Given the description of an element on the screen output the (x, y) to click on. 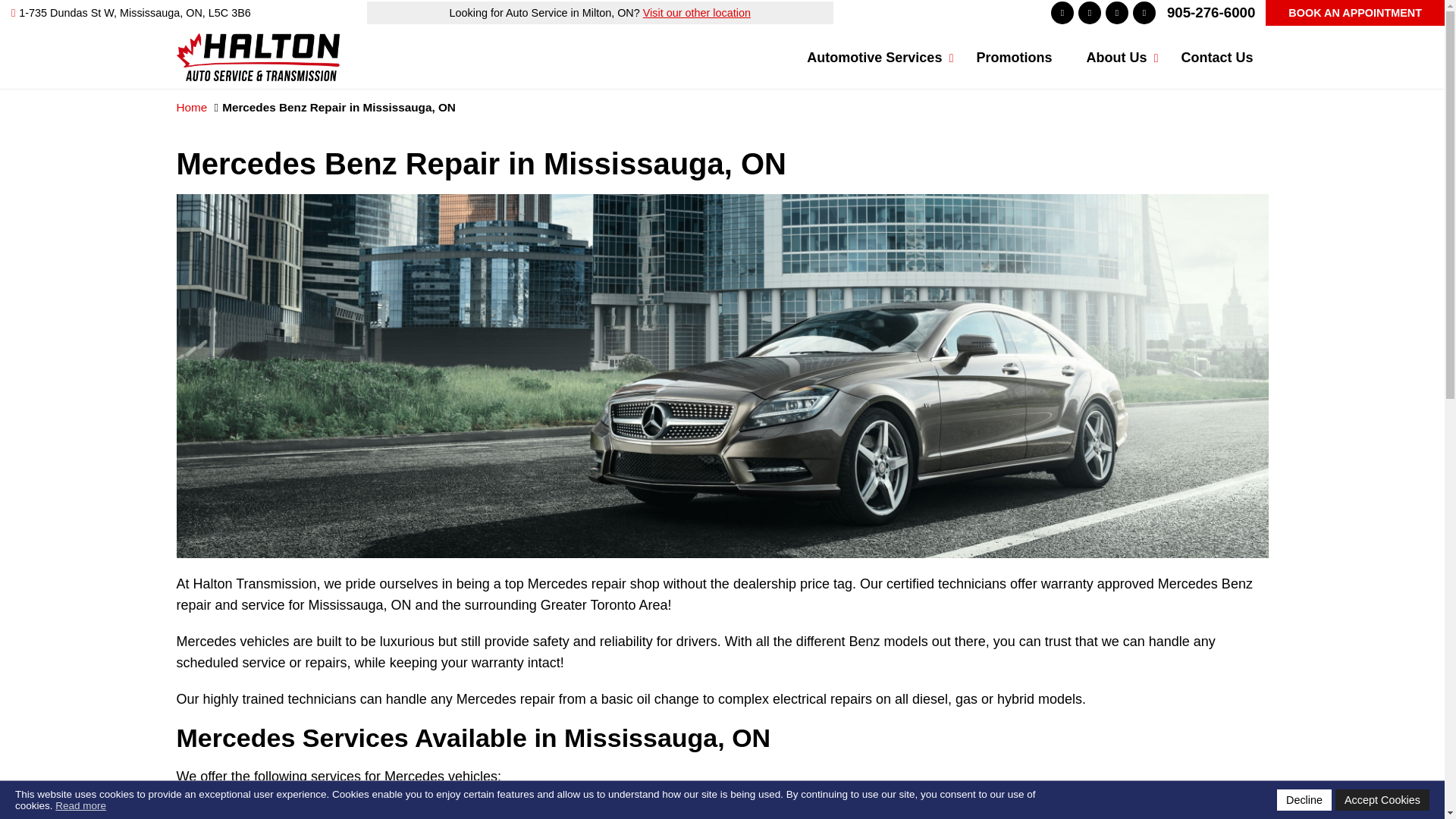
BOOK AN APPOINTMENT (1354, 12)
905-276-6000 (1211, 12)
Promotions (1013, 56)
Read more (80, 805)
Accept Cookies (1382, 799)
Automotive Services (874, 56)
Decline (1304, 799)
Visit our other location (697, 12)
